Given the description of an element on the screen output the (x, y) to click on. 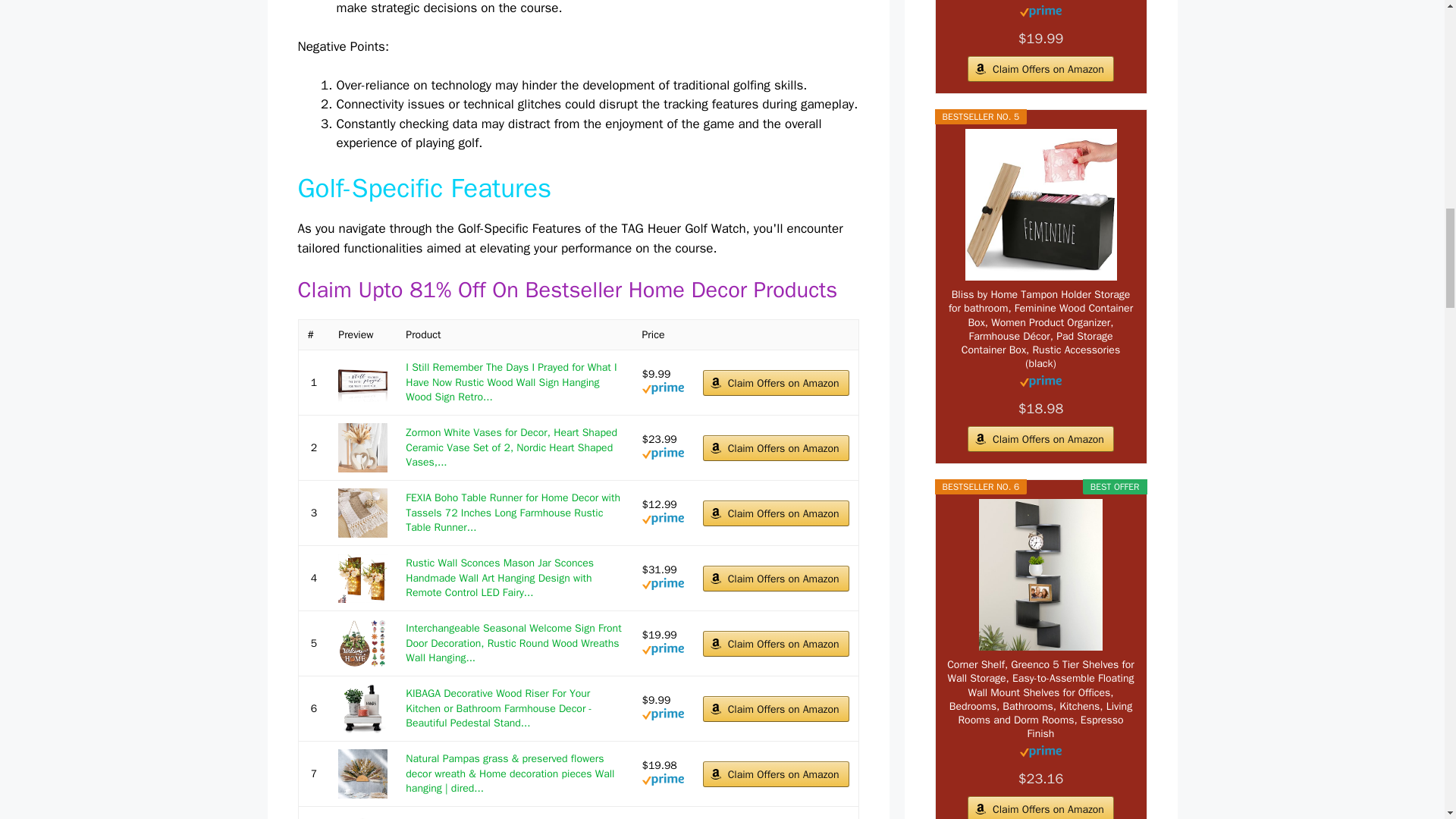
Claim Offers on Amazon (775, 447)
Claim Offers on Amazon (775, 382)
